Given the description of an element on the screen output the (x, y) to click on. 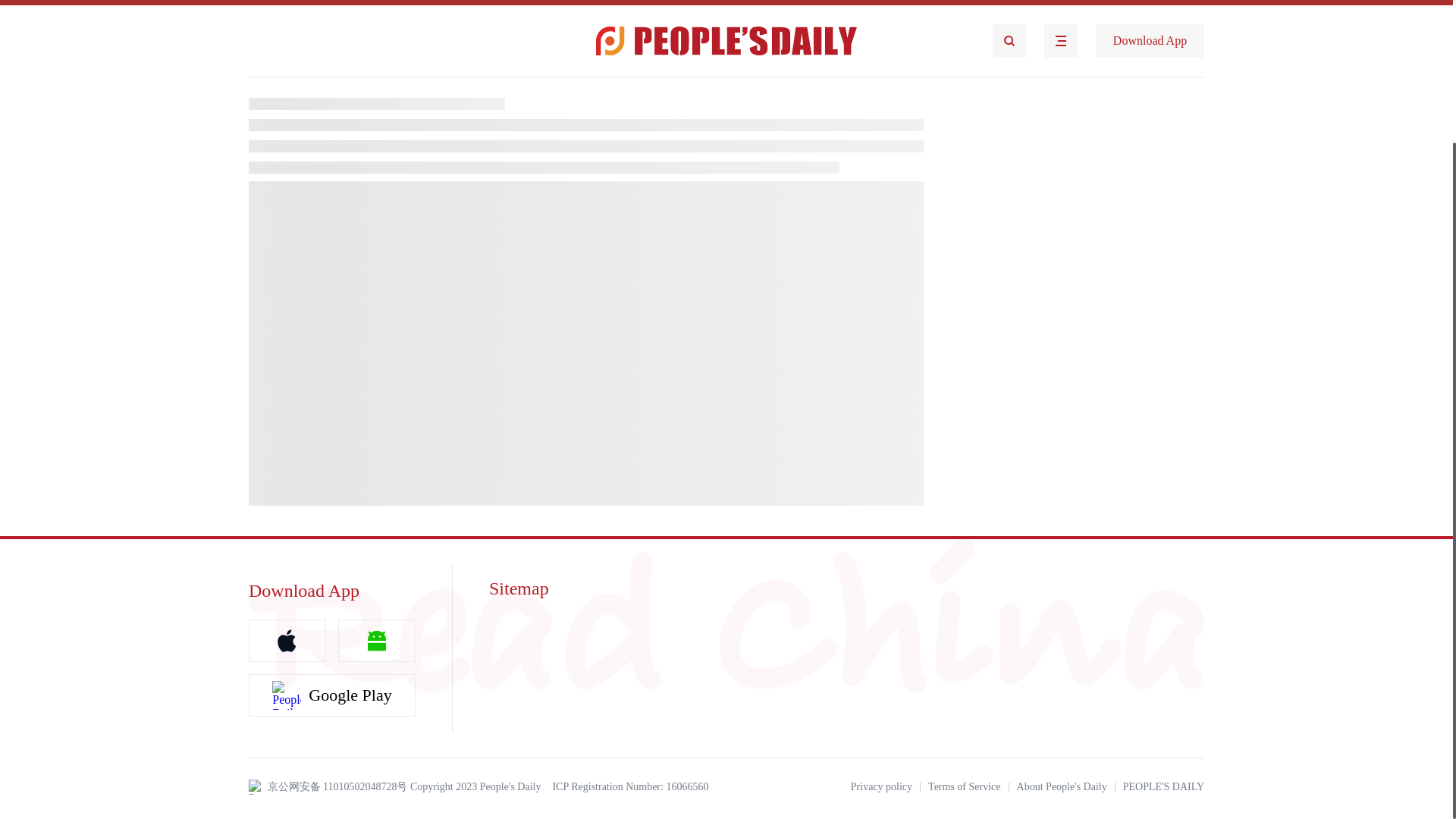
PEOPLE'S DAILY (1163, 787)
ICP Registration Number: 16066560 (629, 786)
Google Play (331, 695)
Terms of Service (964, 787)
About People's Daily (1061, 787)
Privacy policy (881, 787)
